Given the description of an element on the screen output the (x, y) to click on. 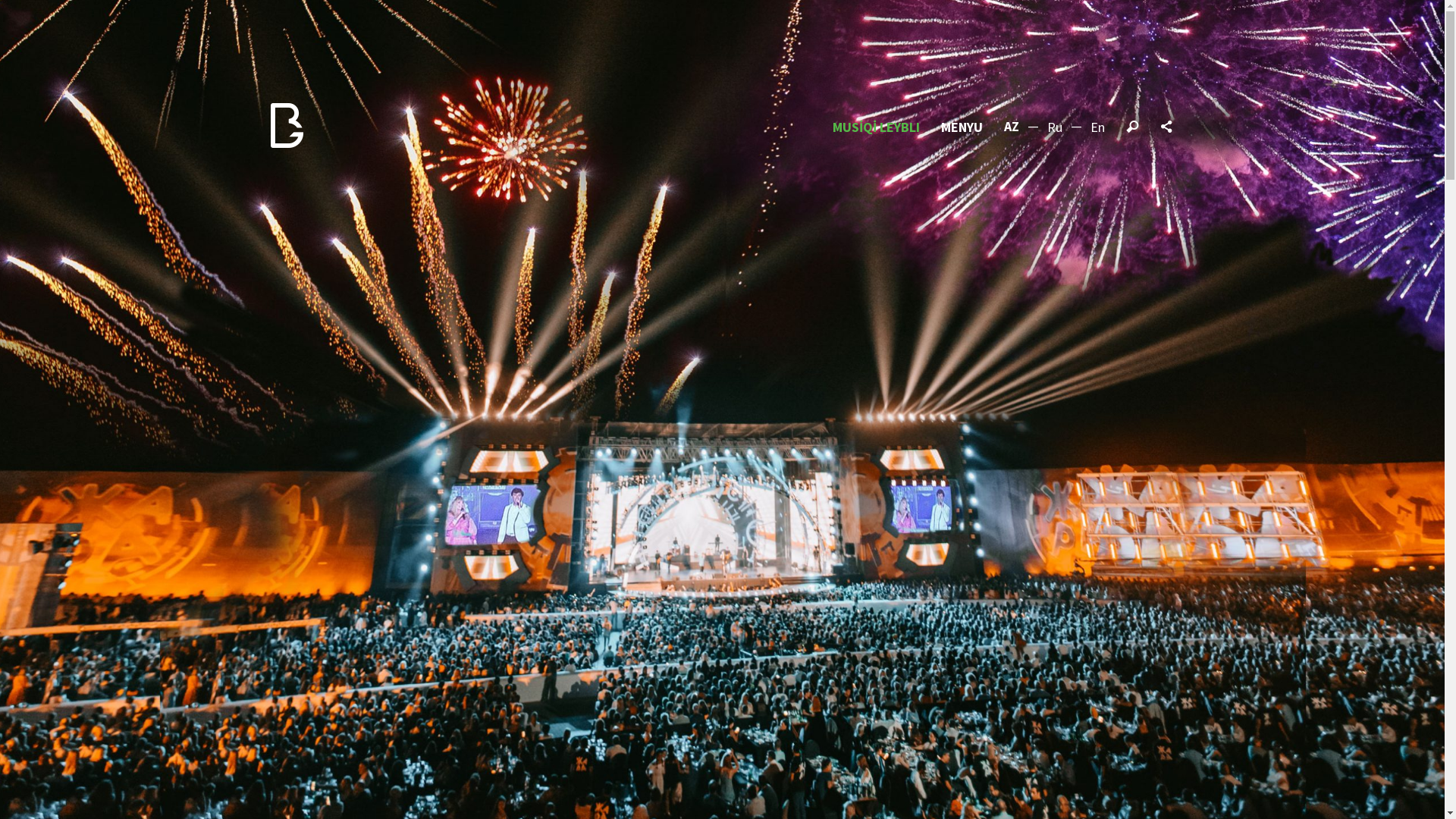
En Element type: text (1097, 126)
MENYU Element type: text (961, 126)
BEAT Group Element type: hover (285, 124)
Ru Element type: text (1054, 126)
Search Element type: text (1132, 126)
